Given the description of an element on the screen output the (x, y) to click on. 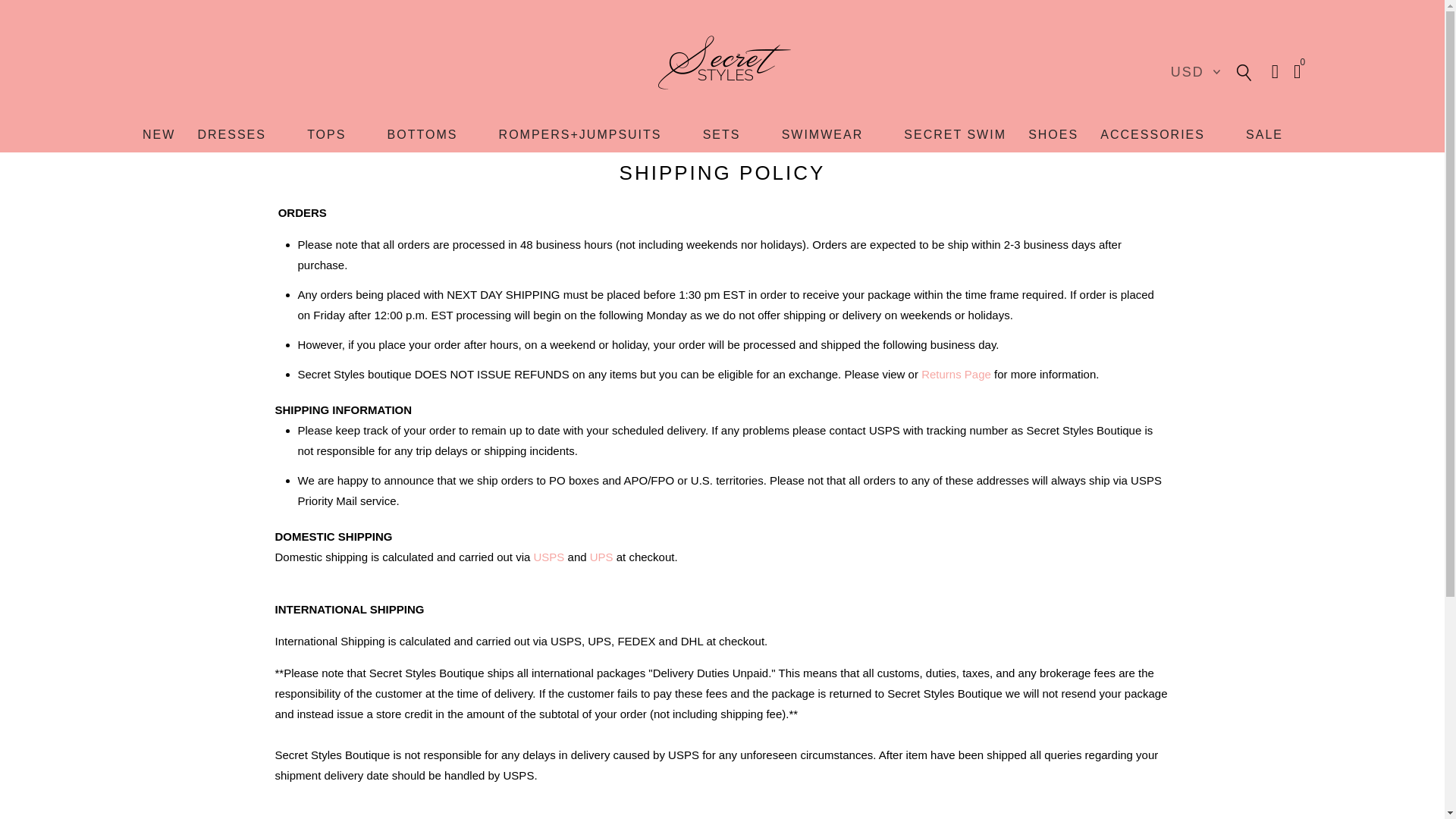
NEW (158, 134)
SHOES (1052, 134)
SETS (722, 134)
SALE (1264, 134)
SWIMWEAR (822, 134)
DRESSES (230, 134)
Returns Page (956, 373)
UPS (600, 556)
ACCESSORIES (1152, 134)
USPS (549, 556)
TOPS (326, 134)
Secret Styles Boutique (722, 64)
SECRET SWIM (955, 134)
Search (1243, 71)
BOTTOMS (422, 134)
